Given the description of an element on the screen output the (x, y) to click on. 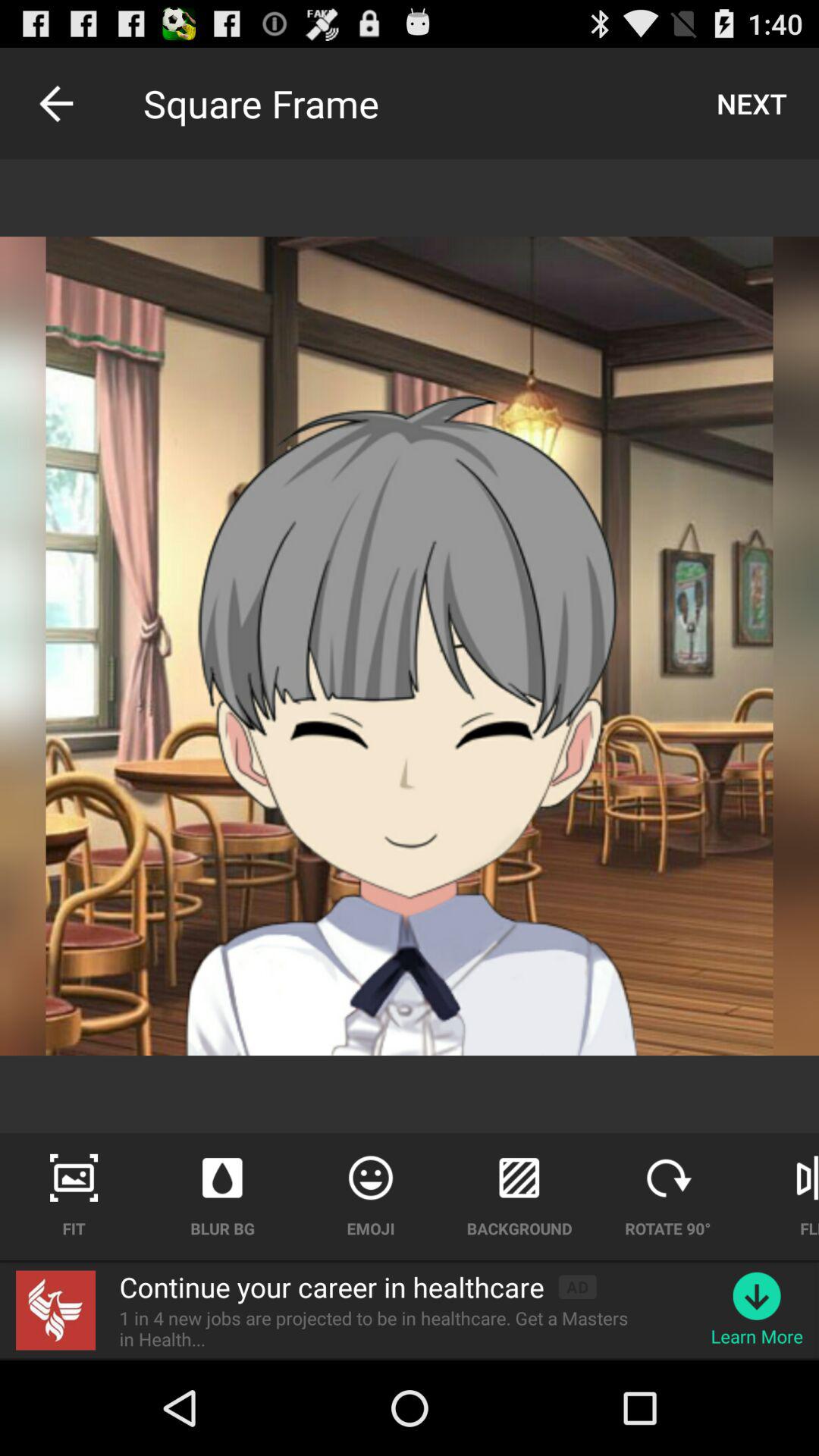
turn on item next to the learn more icon (383, 1328)
